Given the description of an element on the screen output the (x, y) to click on. 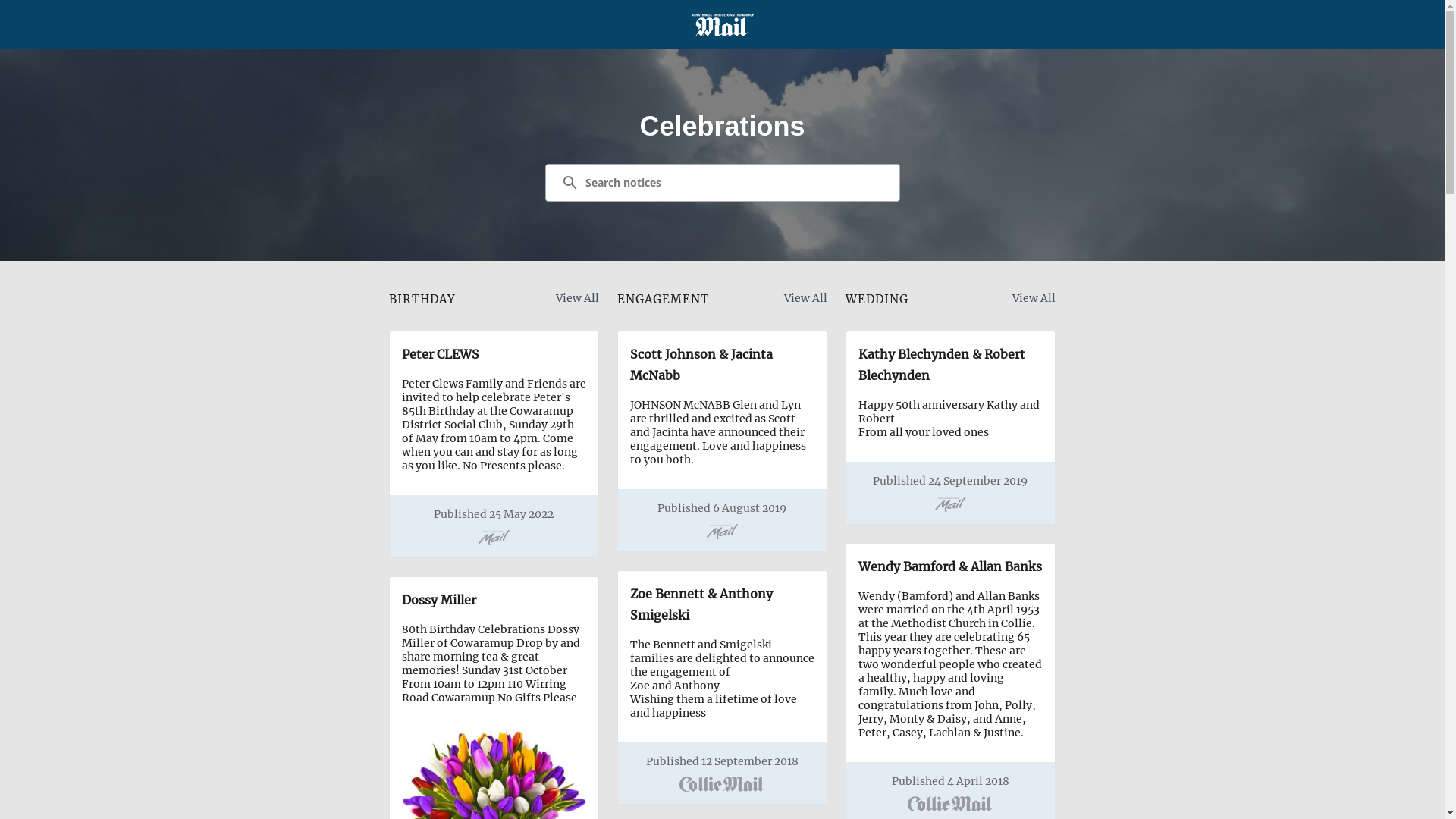
View All Element type: text (577, 299)
View All Element type: text (805, 299)
View All Element type: text (1033, 299)
